Given the description of an element on the screen output the (x, y) to click on. 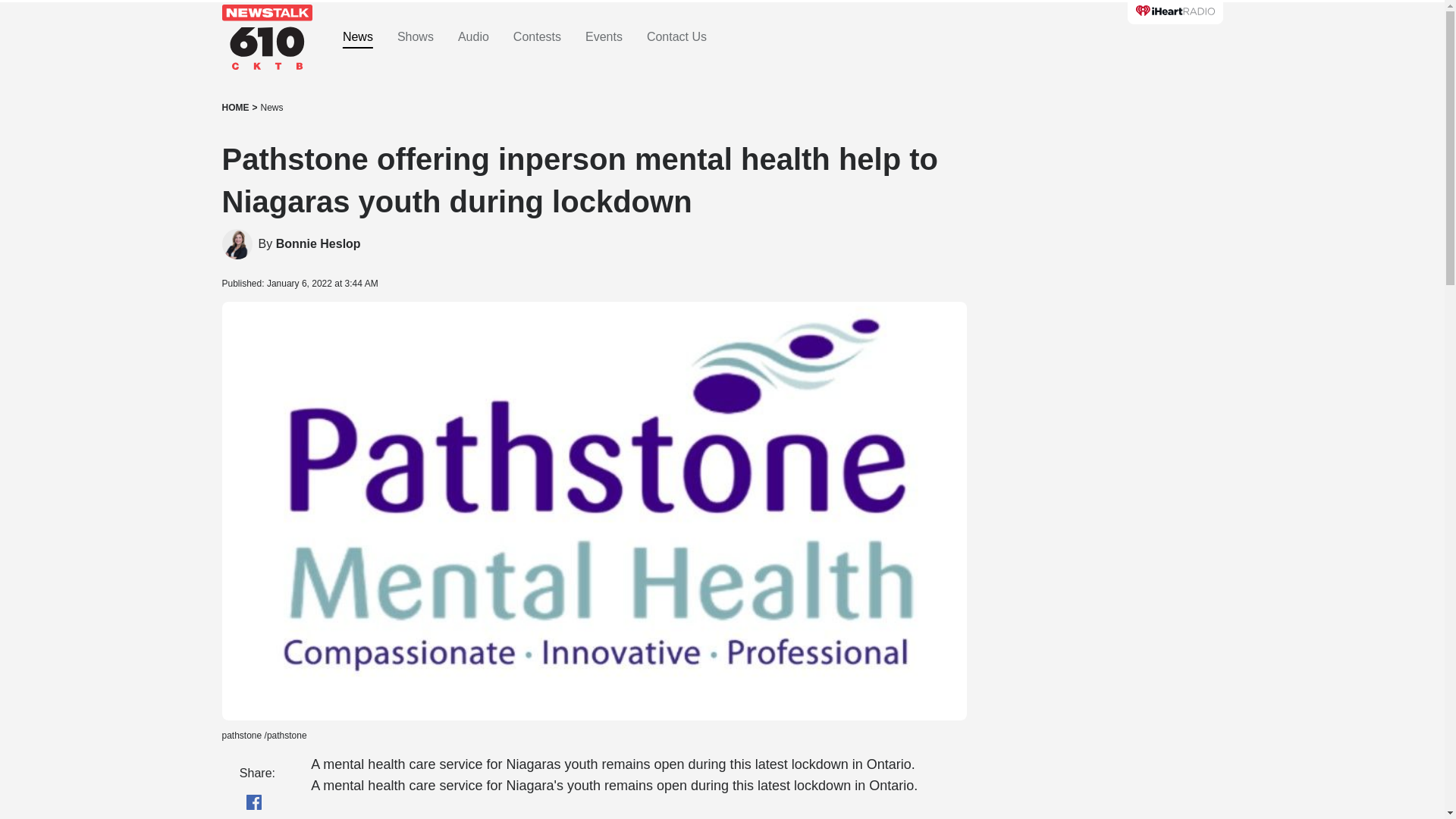
Bonnie Heslop (318, 243)
Bonnie  Heslop (318, 243)
Contact Us (676, 37)
Bonnie  Heslop (236, 244)
HOME (234, 107)
News (271, 107)
Contests (536, 37)
